Given the description of an element on the screen output the (x, y) to click on. 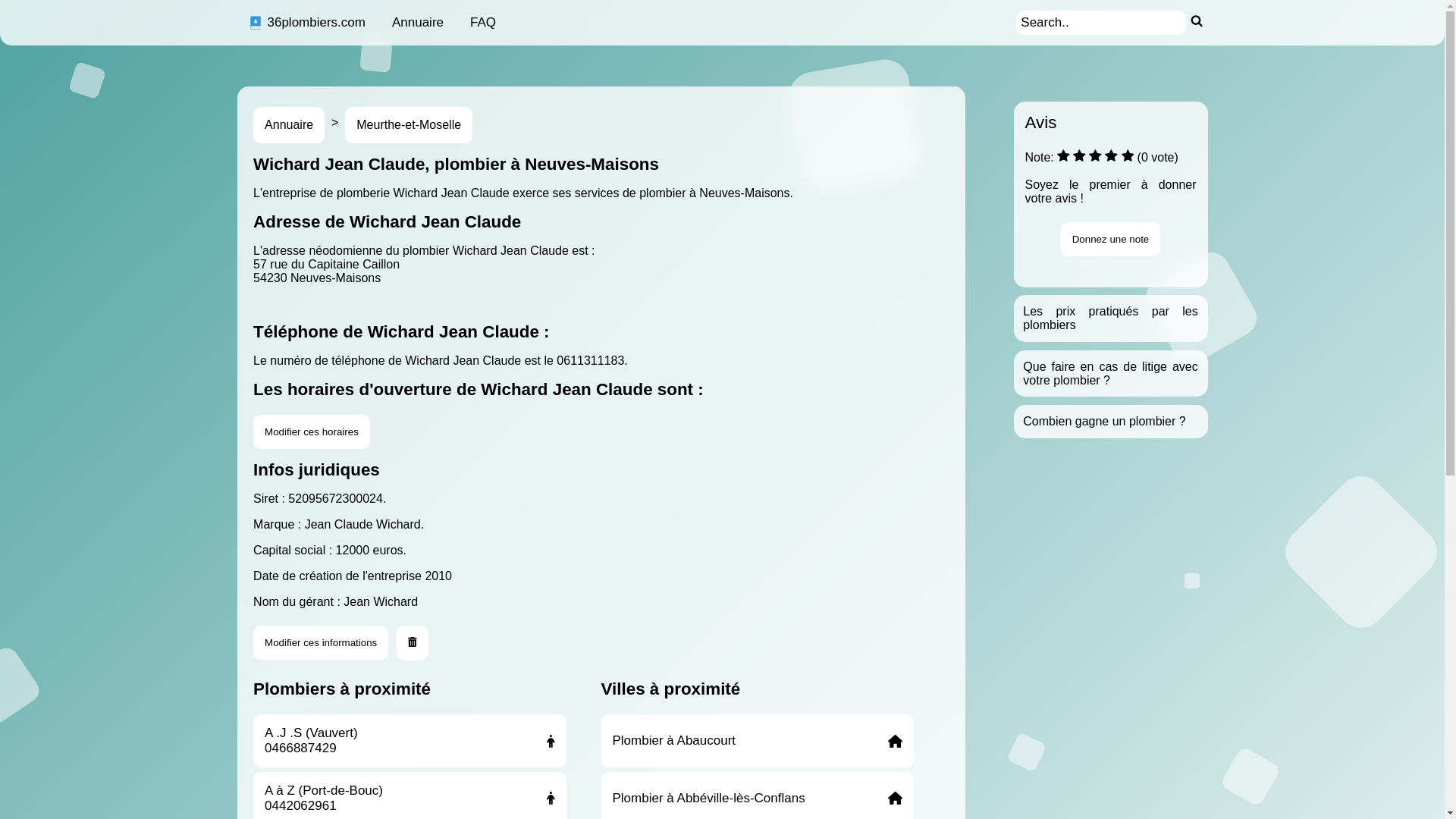
Meurthe-et-Moselle Element type: text (408, 124)
Combien gagne un plombier ? Element type: text (1103, 420)
A .J .S (Vauvert)
0466887429 Element type: text (409, 740)
Modifier ces informations Element type: text (320, 642)
Annuaire Element type: text (417, 22)
Modifier ces horaires Element type: text (311, 431)
Annuaire Element type: text (288, 124)
0611311183 Element type: text (590, 360)
36plombiers.com Element type: text (306, 22)
FAQ Element type: text (482, 22)
Donnez une note Element type: text (1110, 239)
Que faire en cas de litige avec votre plombier ? Element type: text (1109, 373)
